Given the description of an element on the screen output the (x, y) to click on. 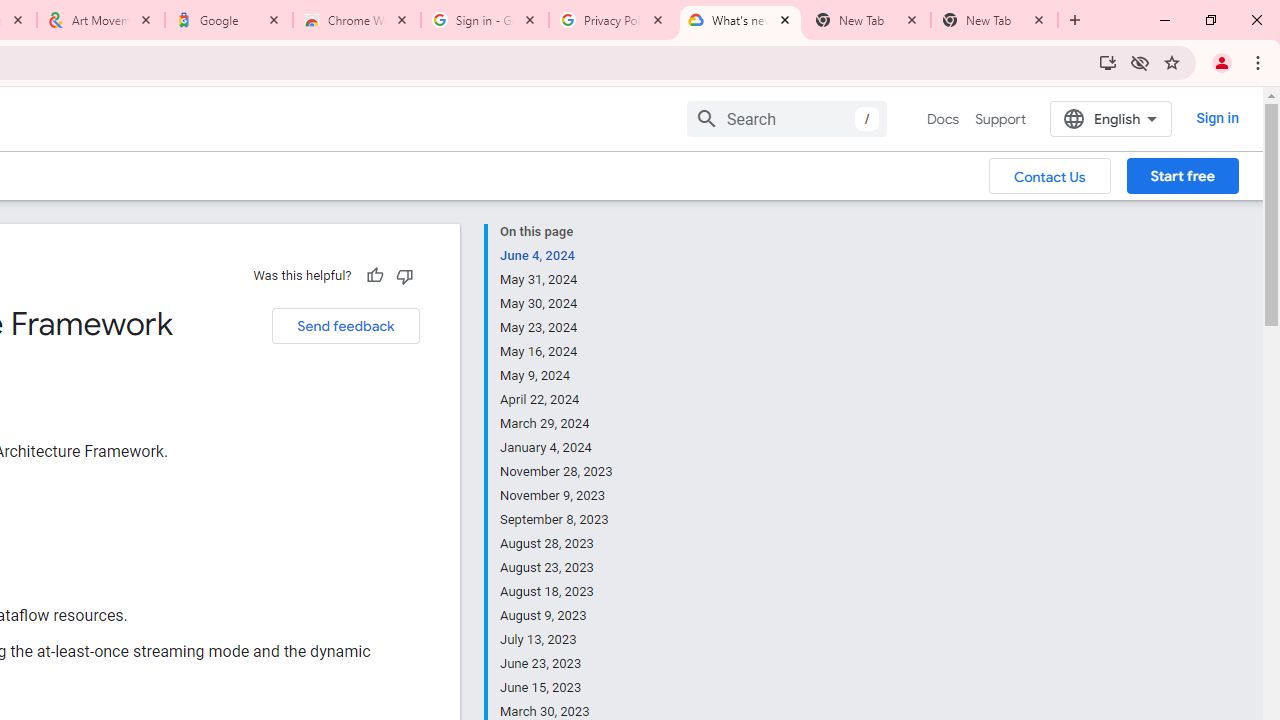
Chrome Web Store - Color themes by Chrome (357, 20)
August 18, 2023 (557, 592)
New Tab (994, 20)
Support (1000, 119)
Helpful (374, 275)
November 28, 2023 (557, 471)
September 8, 2023 (557, 520)
May 23, 2024 (557, 327)
May 9, 2024 (557, 376)
April 22, 2024 (557, 399)
English (1110, 118)
